Given the description of an element on the screen output the (x, y) to click on. 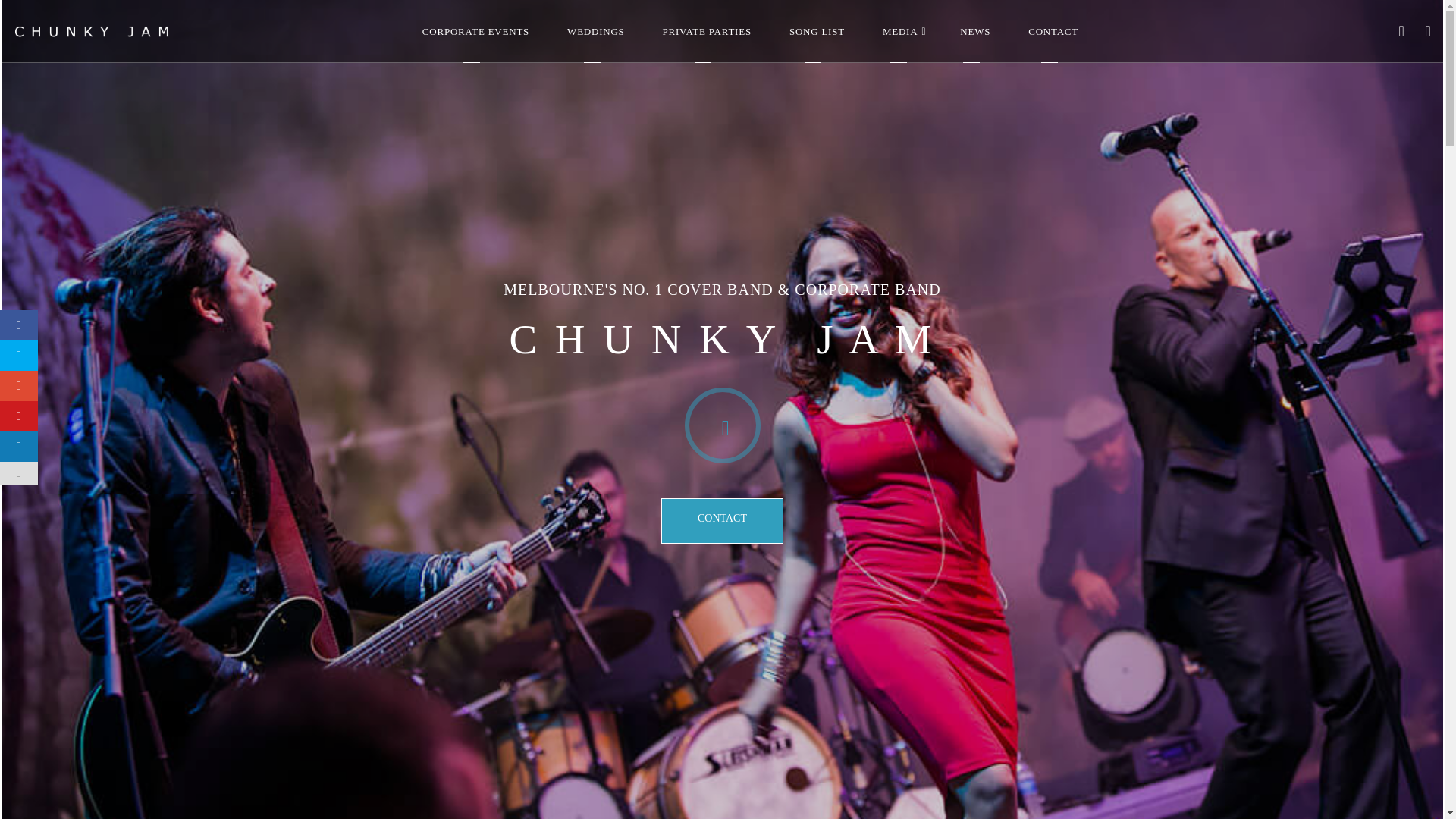
PRIVATE PARTIES (707, 31)
SONG LIST (817, 31)
WEDDINGS (595, 31)
CORPORATE EVENTS (475, 31)
MEDIA (902, 31)
